Given the description of an element on the screen output the (x, y) to click on. 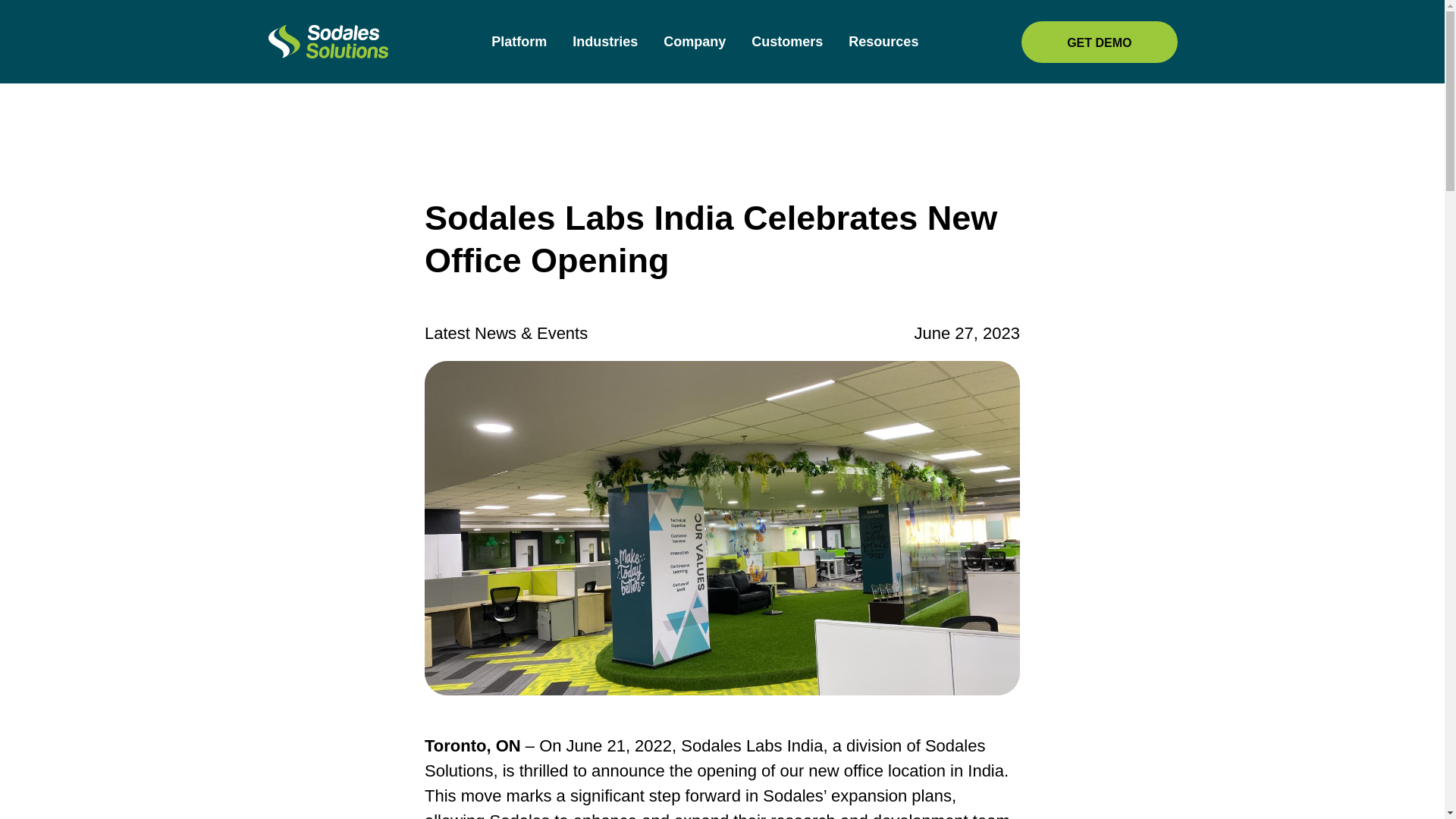
Customers (786, 41)
Sodales Solutions (327, 41)
GET DEMO (1099, 42)
